Given the description of an element on the screen output the (x, y) to click on. 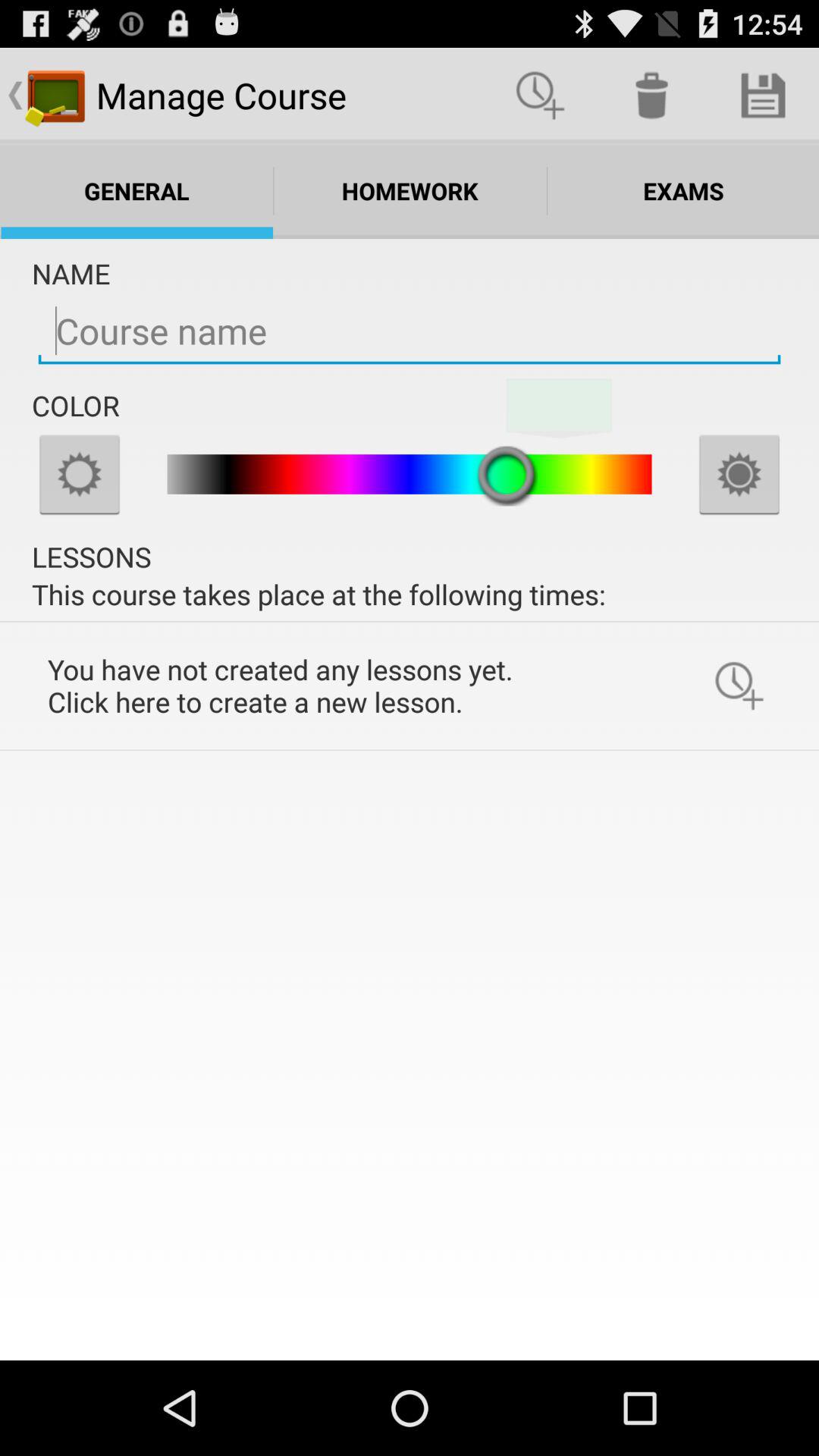
lighten color choice (79, 474)
